Given the description of an element on the screen output the (x, y) to click on. 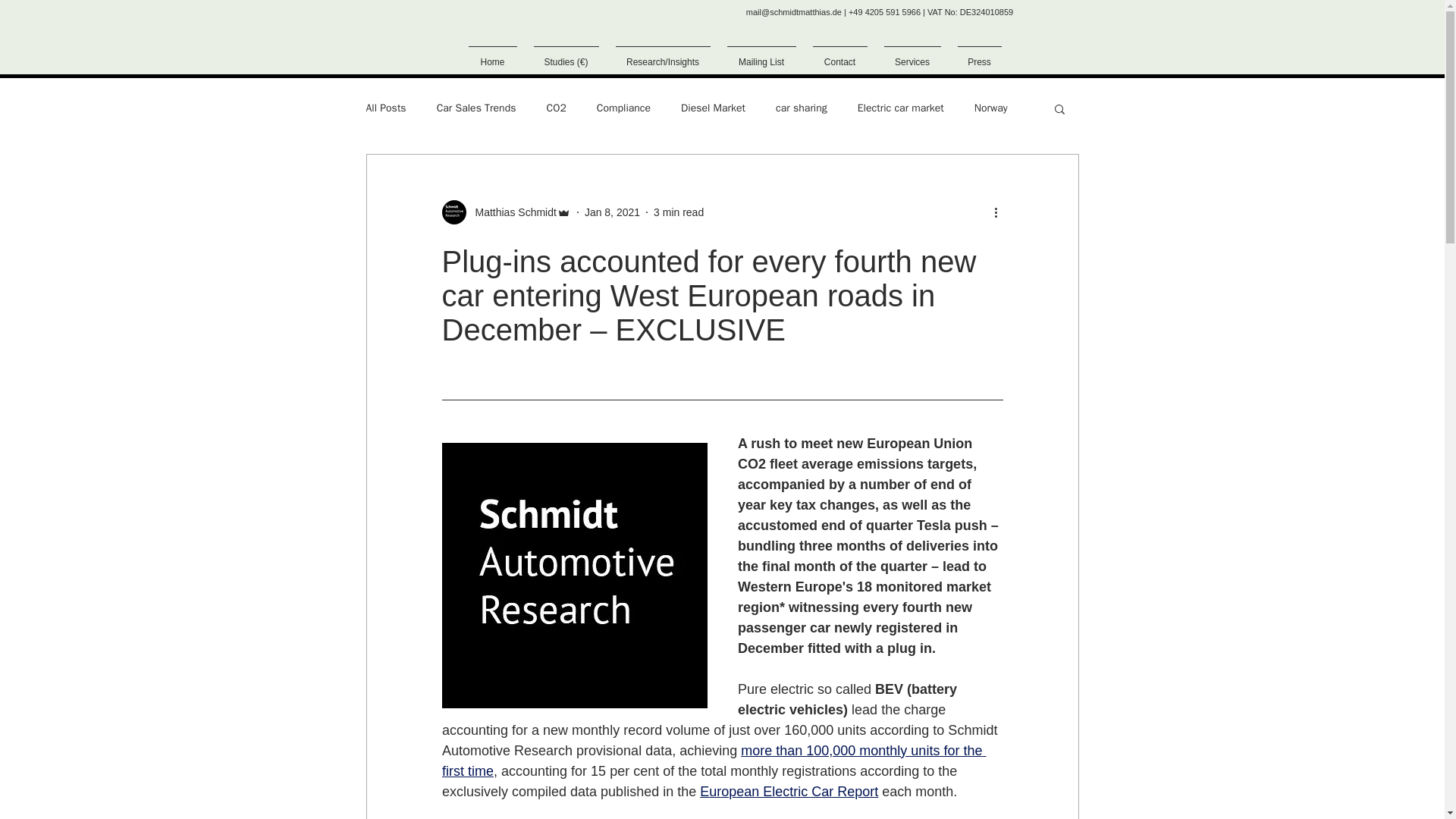
European Electric Car Report (788, 791)
All Posts (385, 108)
Matthias Schmidt (505, 211)
Mailing List (762, 55)
Electric car market (900, 108)
car sharing (801, 108)
Matthias Schmidt (510, 212)
Diesel Market (713, 108)
CO2 (556, 108)
more than 100,000 monthly units for the first time (713, 760)
Compliance (623, 108)
Home (492, 55)
Norway (990, 108)
Contact (839, 55)
Jan 8, 2021 (612, 212)
